Given the description of an element on the screen output the (x, y) to click on. 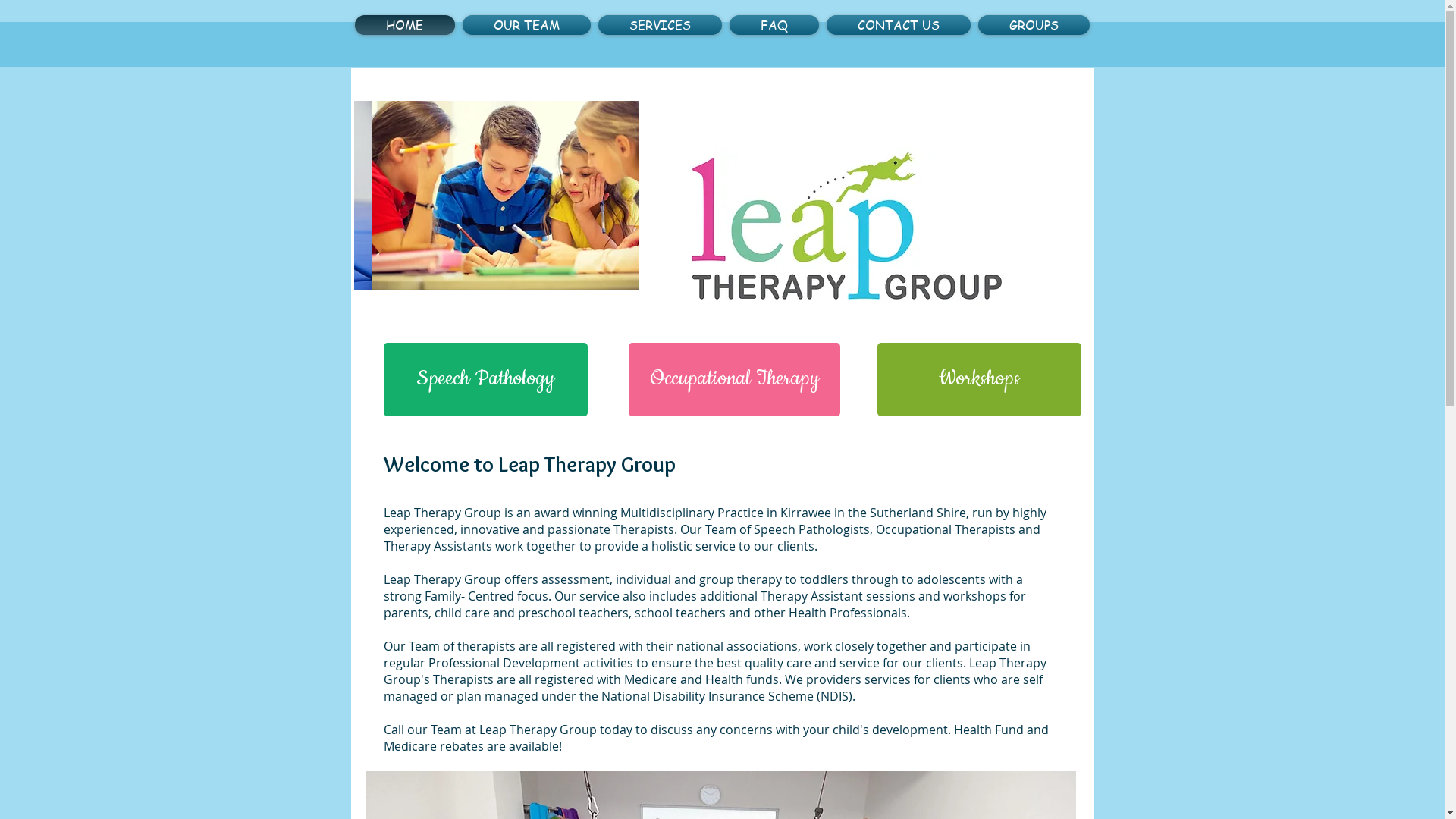
OUR TEAM Element type: text (525, 24)
HOME Element type: text (406, 24)
Occupational Therapy Element type: text (733, 379)
Final Leap Logo_RGB.jpg Element type: hover (845, 230)
Workshops Element type: text (978, 379)
Speech Pathology Element type: text (485, 379)
FAQ Element type: text (773, 24)
GROUPS Element type: text (1030, 24)
CONTACT US Element type: text (897, 24)
SERVICES Element type: text (659, 24)
